Given the description of an element on the screen output the (x, y) to click on. 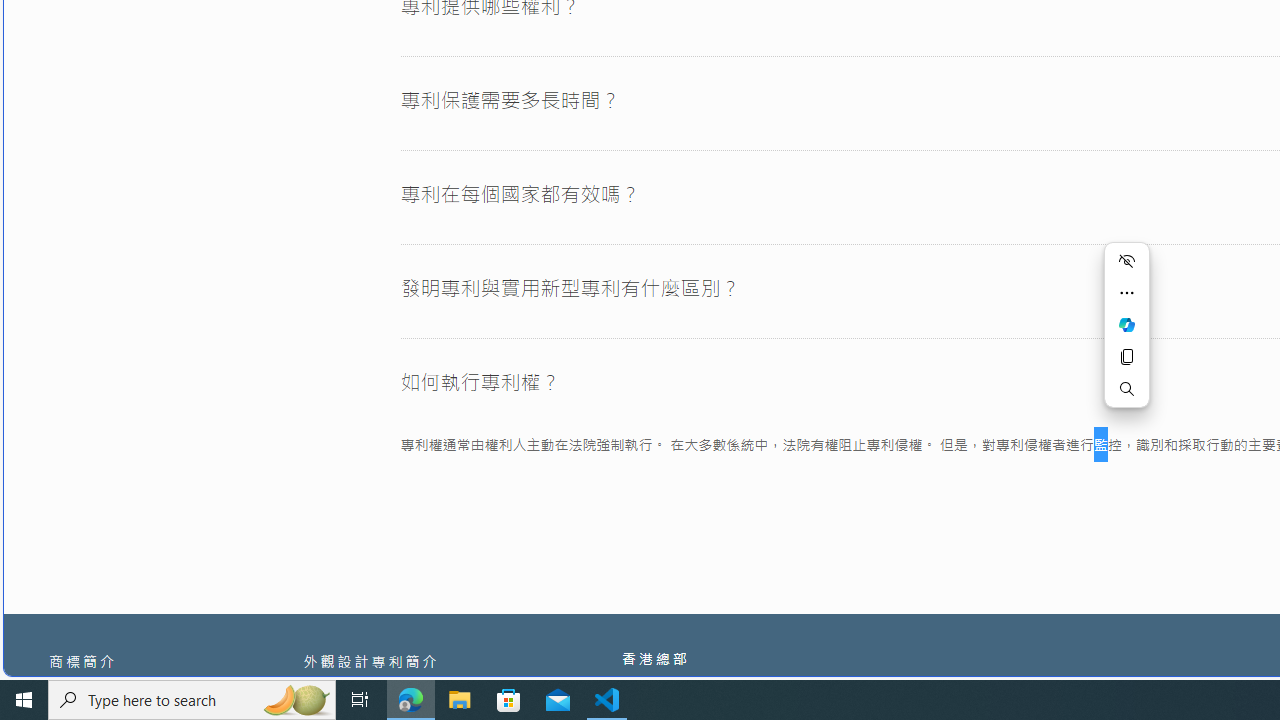
More actions (1126, 292)
Mini menu on text selection (1126, 324)
Copy (1126, 356)
Mini menu on text selection (1126, 336)
Hide menu (1126, 260)
Ask Copilot (1126, 324)
